Given the description of an element on the screen output the (x, y) to click on. 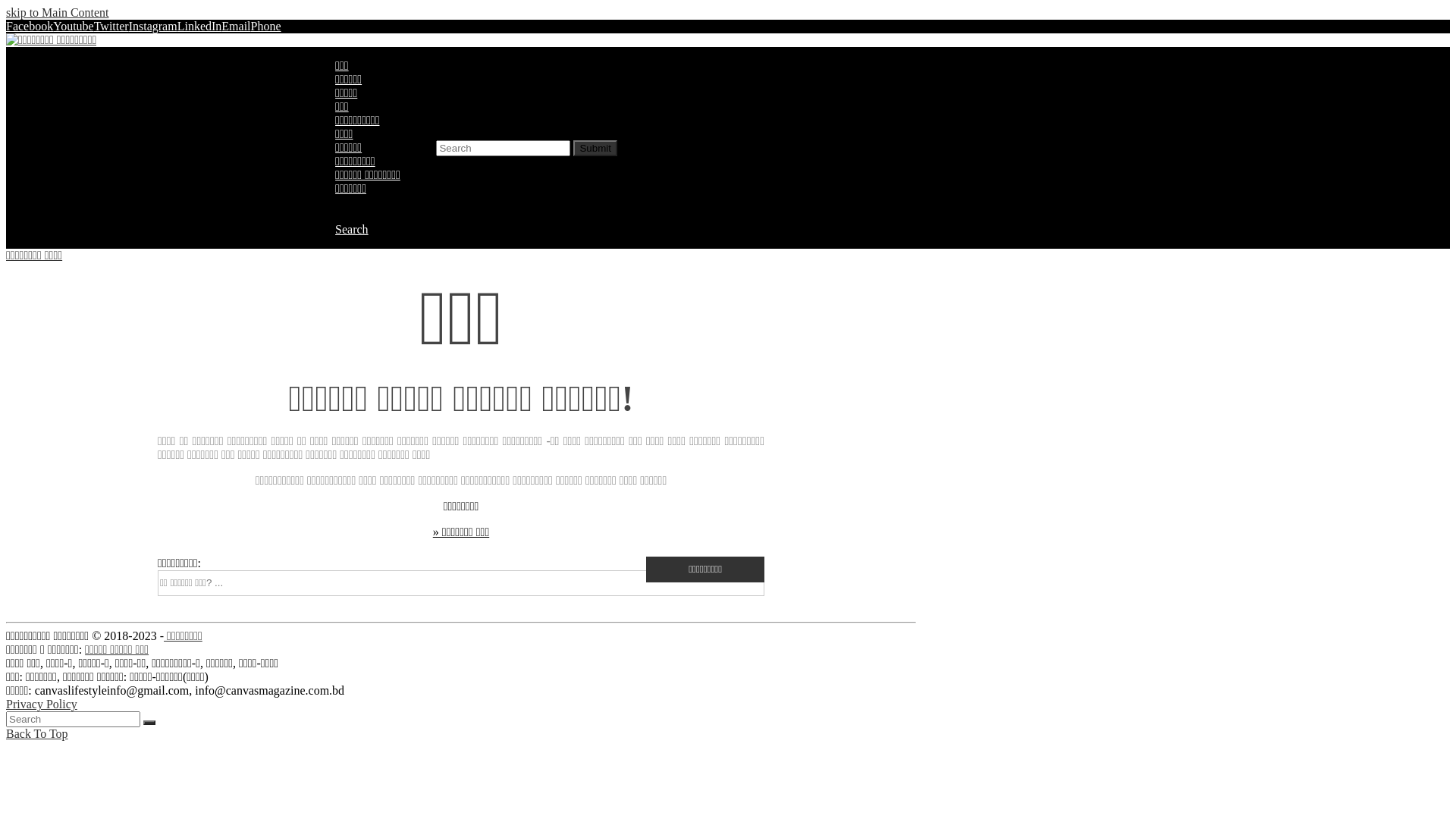
Phone Element type: text (266, 25)
Twitter Element type: text (111, 25)
LinkedIn Element type: text (199, 25)
Privacy Policy Element type: text (41, 703)
Instagram Element type: text (152, 25)
Submit Element type: text (594, 147)
Youtube Element type: text (73, 25)
Back To Top Element type: text (37, 733)
Email Element type: text (235, 25)
Search Element type: text (351, 228)
skip to Main Content Element type: text (57, 12)
Facebook Element type: text (29, 25)
